Given the description of an element on the screen output the (x, y) to click on. 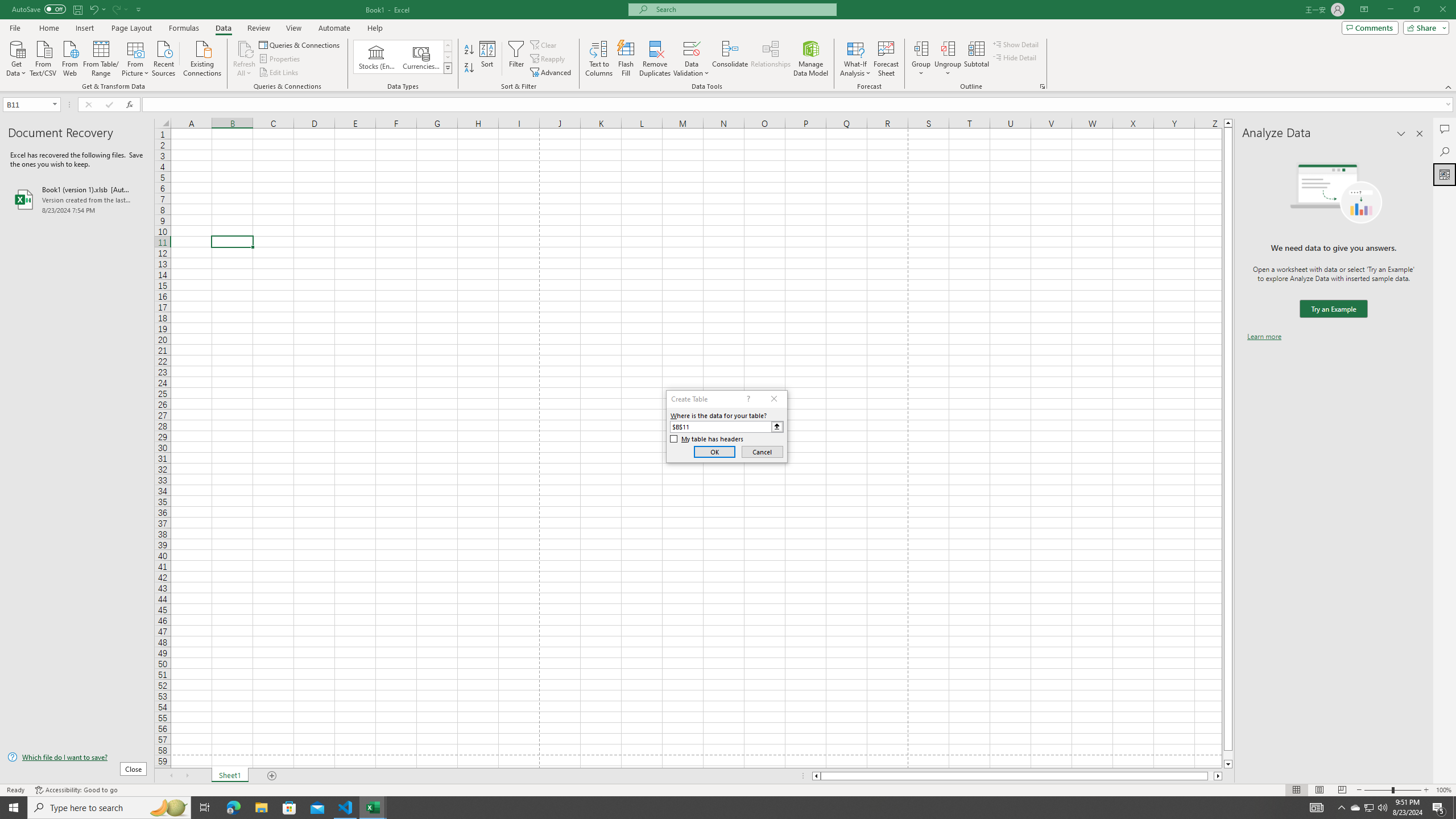
Consolidate... (729, 58)
